Given the description of an element on the screen output the (x, y) to click on. 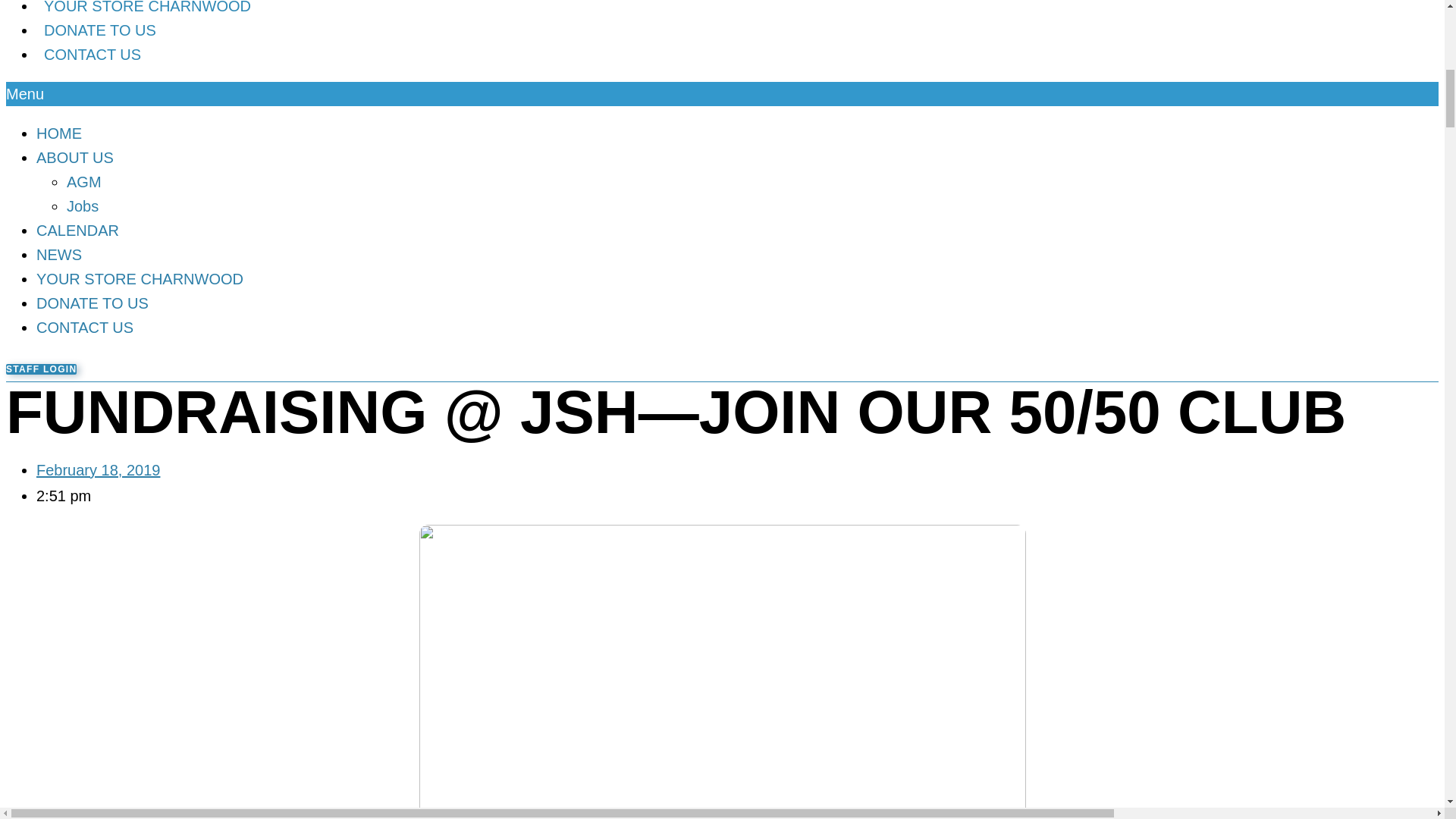
YOUR STORE CHARNWOOD (139, 279)
February 18, 2019 (98, 469)
YOUR STORE CHARNWOOD (147, 13)
STAFF LOGIN (41, 368)
NEWS (66, 2)
Jobs (82, 206)
DONATE TO US (99, 30)
CONTACT US (92, 54)
NEWS (58, 254)
CONTACT US (84, 327)
